Given the description of an element on the screen output the (x, y) to click on. 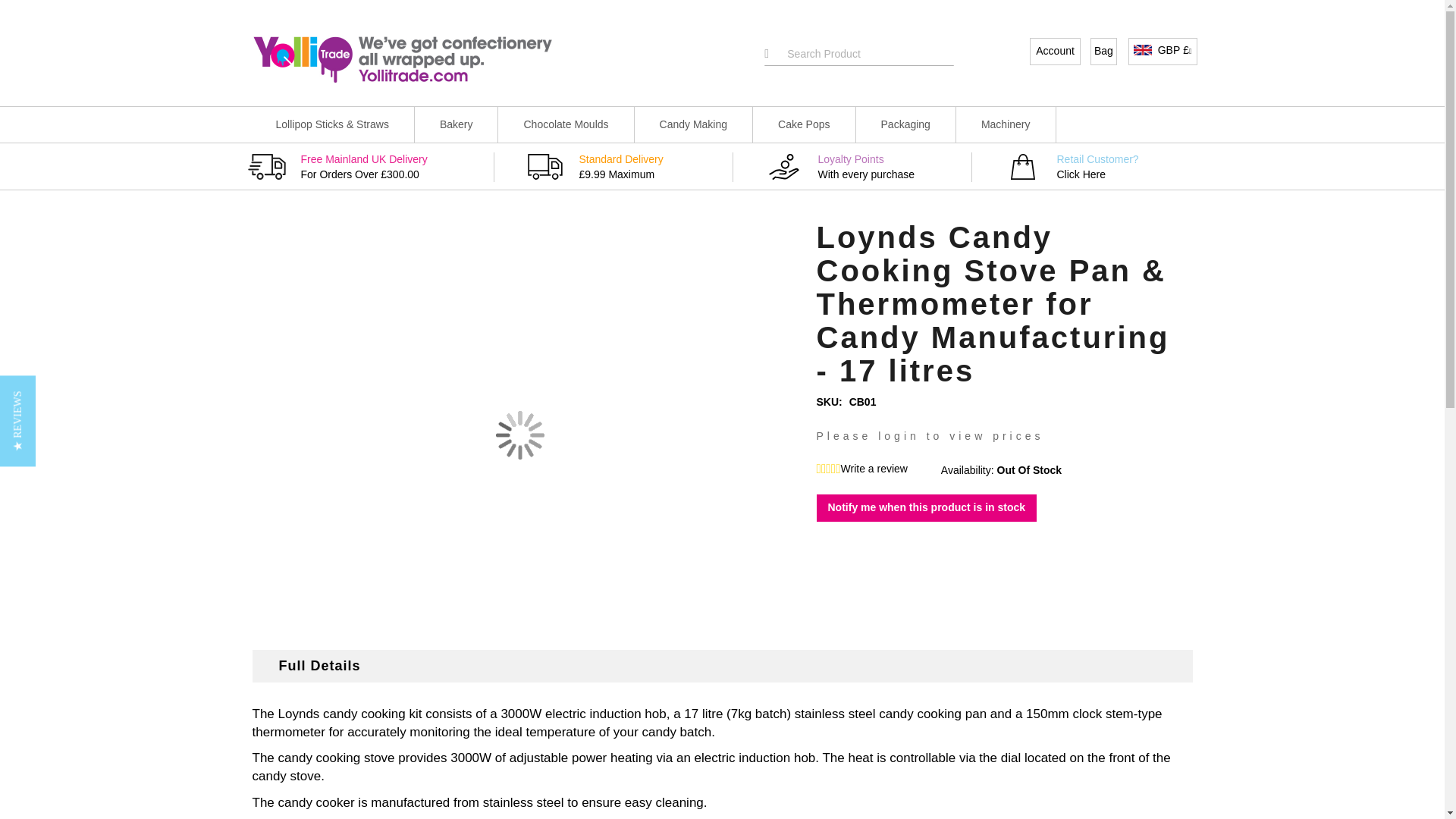
Free Mainland UK Delivery (370, 166)
Account (1054, 50)
Standard Delivery (544, 166)
Bakery (455, 124)
Chocolate Moulds (565, 124)
Loyalty Points (783, 166)
More Info (1142, 50)
Yolli Trade (401, 58)
Standard Delivery (628, 166)
Loyalty Points (867, 166)
Free Mainland UK Delivery (266, 166)
Retail Customer? Click Here (1107, 166)
Retail Customer? Click Here (1023, 166)
